Given the description of an element on the screen output the (x, y) to click on. 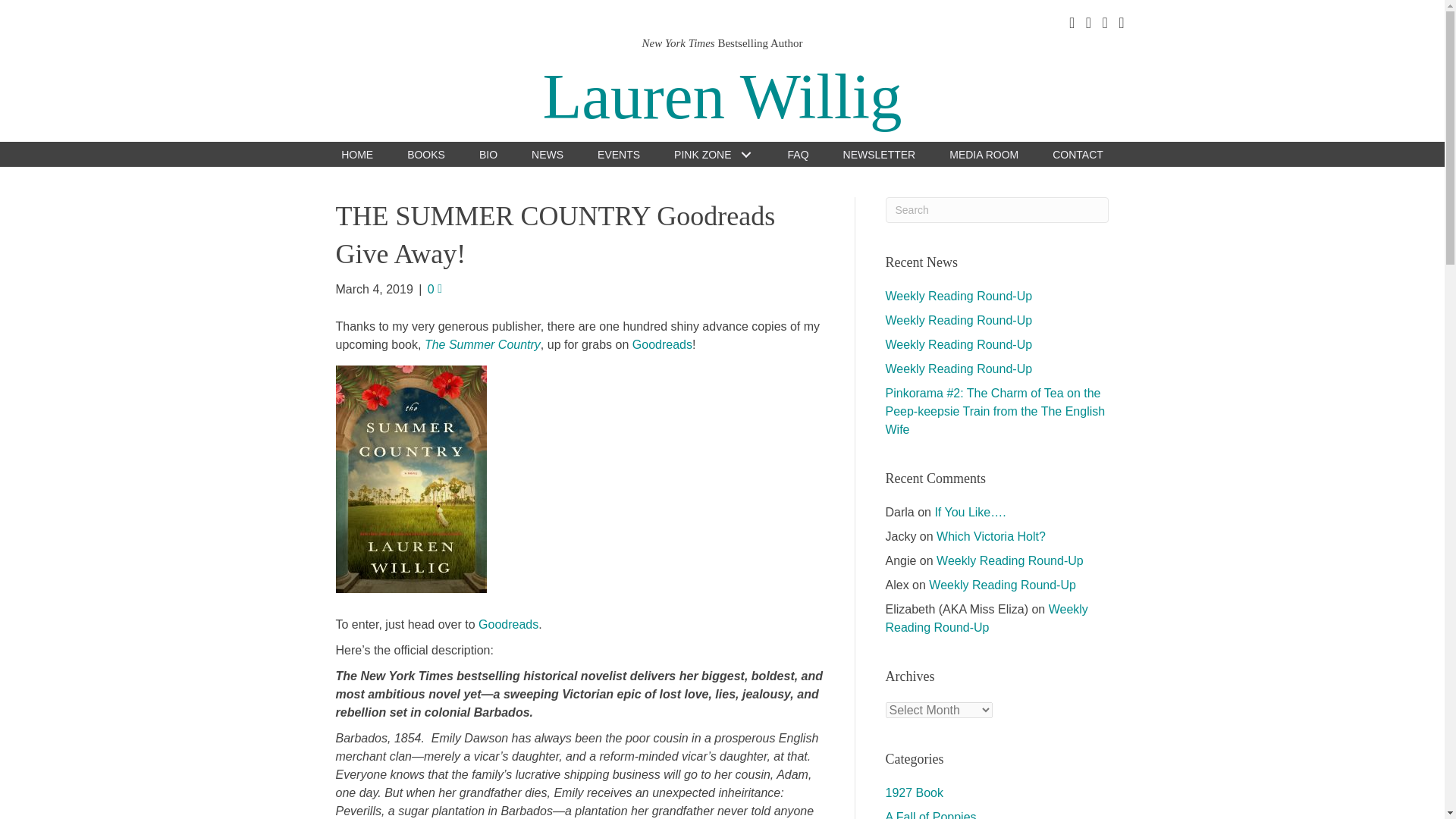
NEWS (547, 154)
MEDIA ROOM (983, 154)
Weekly Reading Round-Up (1001, 584)
Weekly Reading Round-Up (1009, 560)
PINK ZONE (713, 154)
0 (435, 288)
CONTACT (1078, 154)
Goodreads (508, 624)
Lauren Willig (721, 95)
FAQ (798, 154)
